Given the description of an element on the screen output the (x, y) to click on. 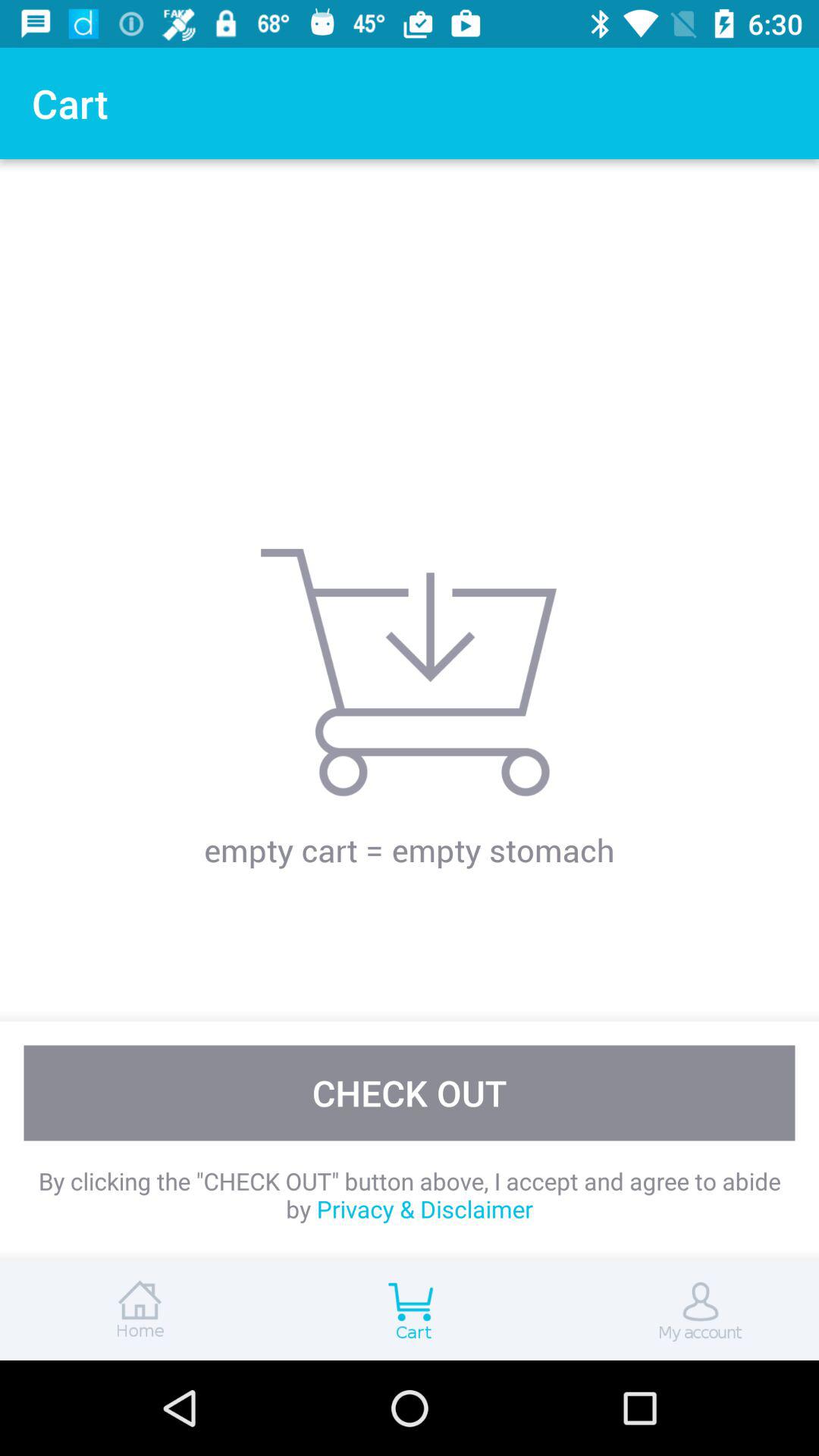
turn on the by clicking the icon (409, 1194)
